Given the description of an element on the screen output the (x, y) to click on. 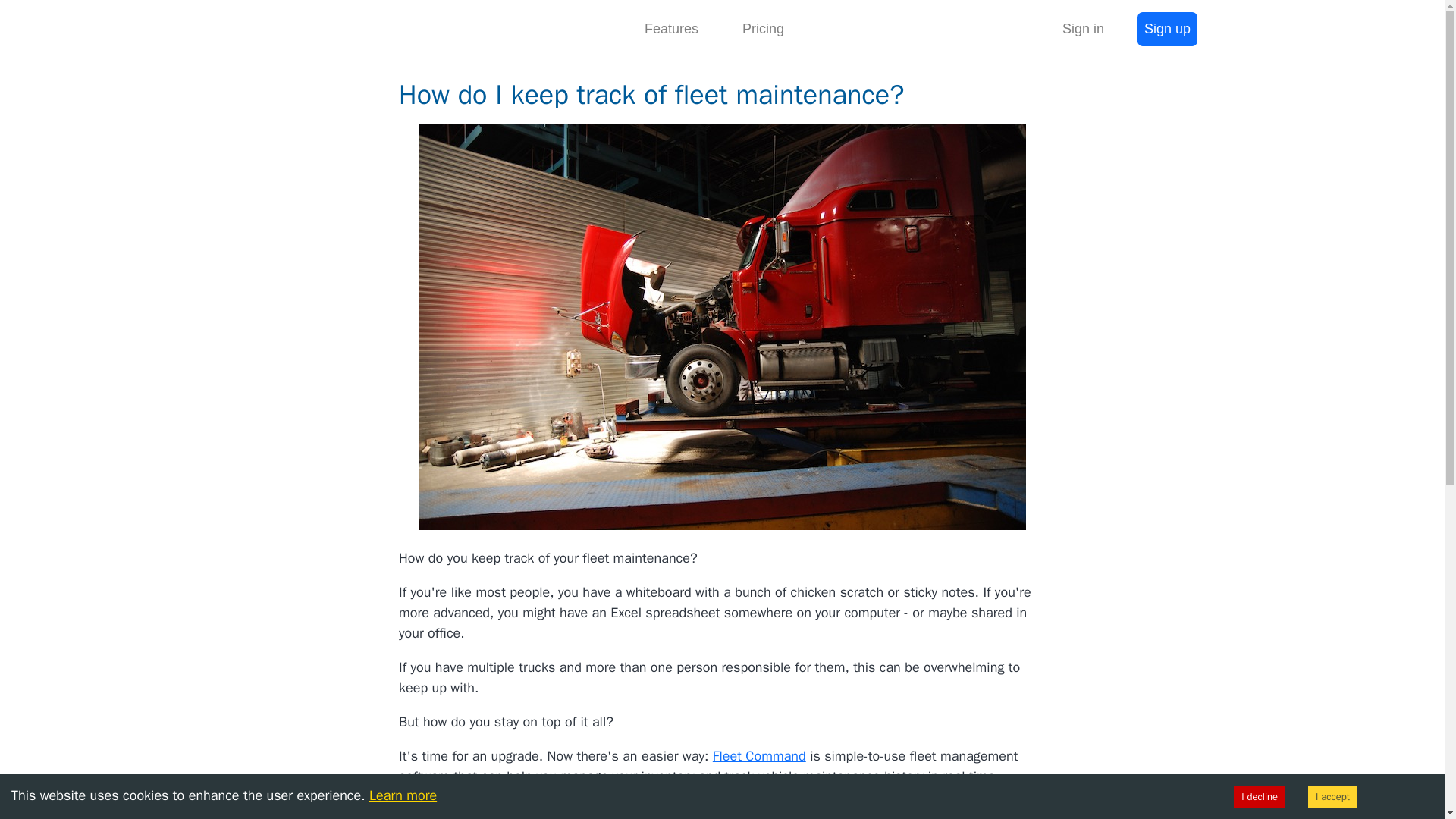
Sign in (1082, 28)
Features (670, 28)
Learn more (402, 795)
Fleet Command (759, 755)
I accept (1331, 796)
Pricing (762, 28)
I decline (1259, 796)
Sign up (1166, 28)
